Given the description of an element on the screen output the (x, y) to click on. 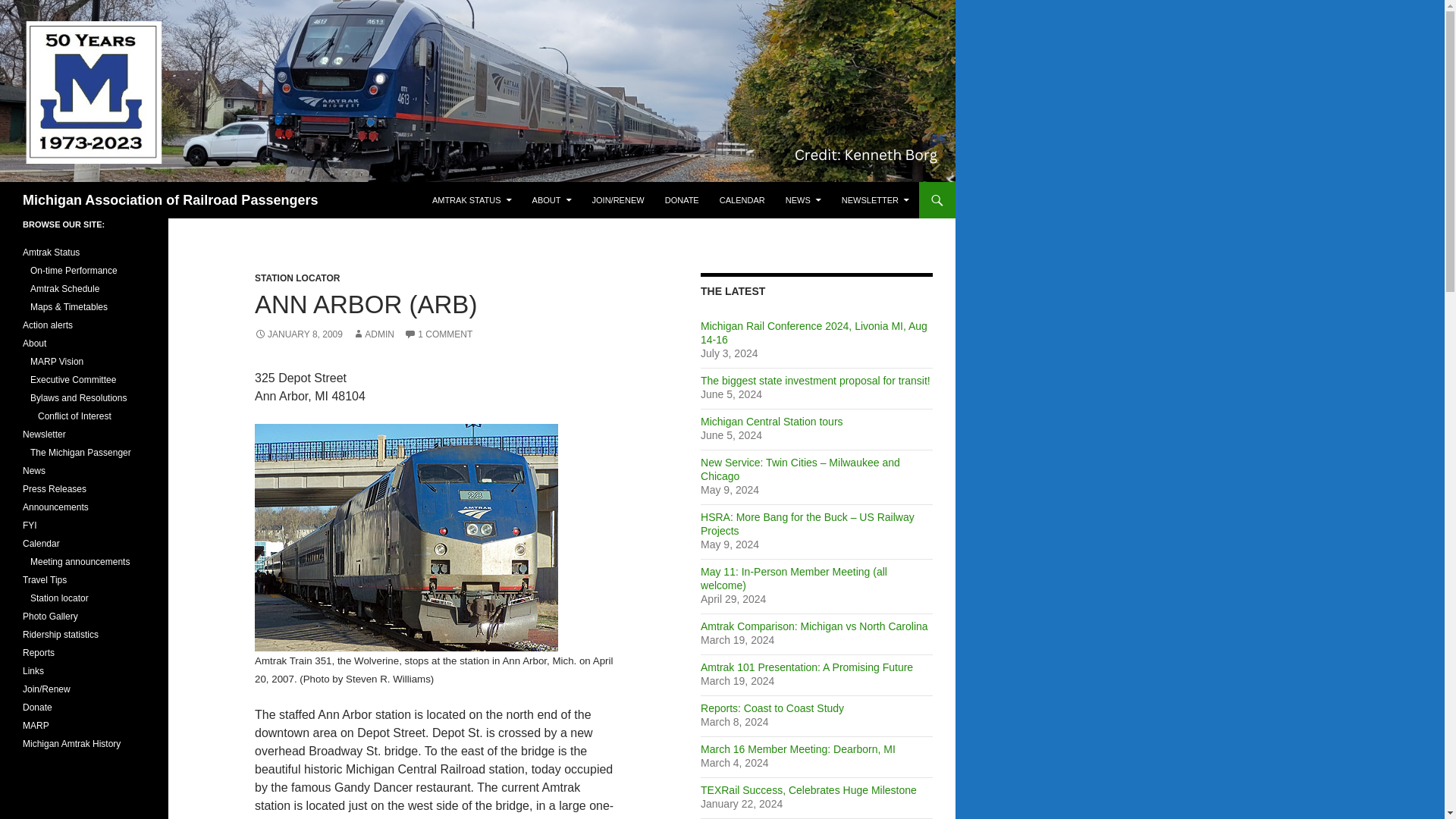
Search (23, 190)
NEWS (802, 199)
Michigan Association of Railroad Passengers (170, 199)
AMTRAK STATUS (472, 199)
CALENDAR (742, 199)
STATION LOCATOR (296, 277)
NEWSLETTER (875, 199)
DONATE (681, 199)
SKIP TO CONTENT (469, 187)
ABOUT (551, 199)
1 COMMENT (437, 334)
ADMIN (373, 334)
JANUARY 8, 2009 (298, 334)
